Given the description of an element on the screen output the (x, y) to click on. 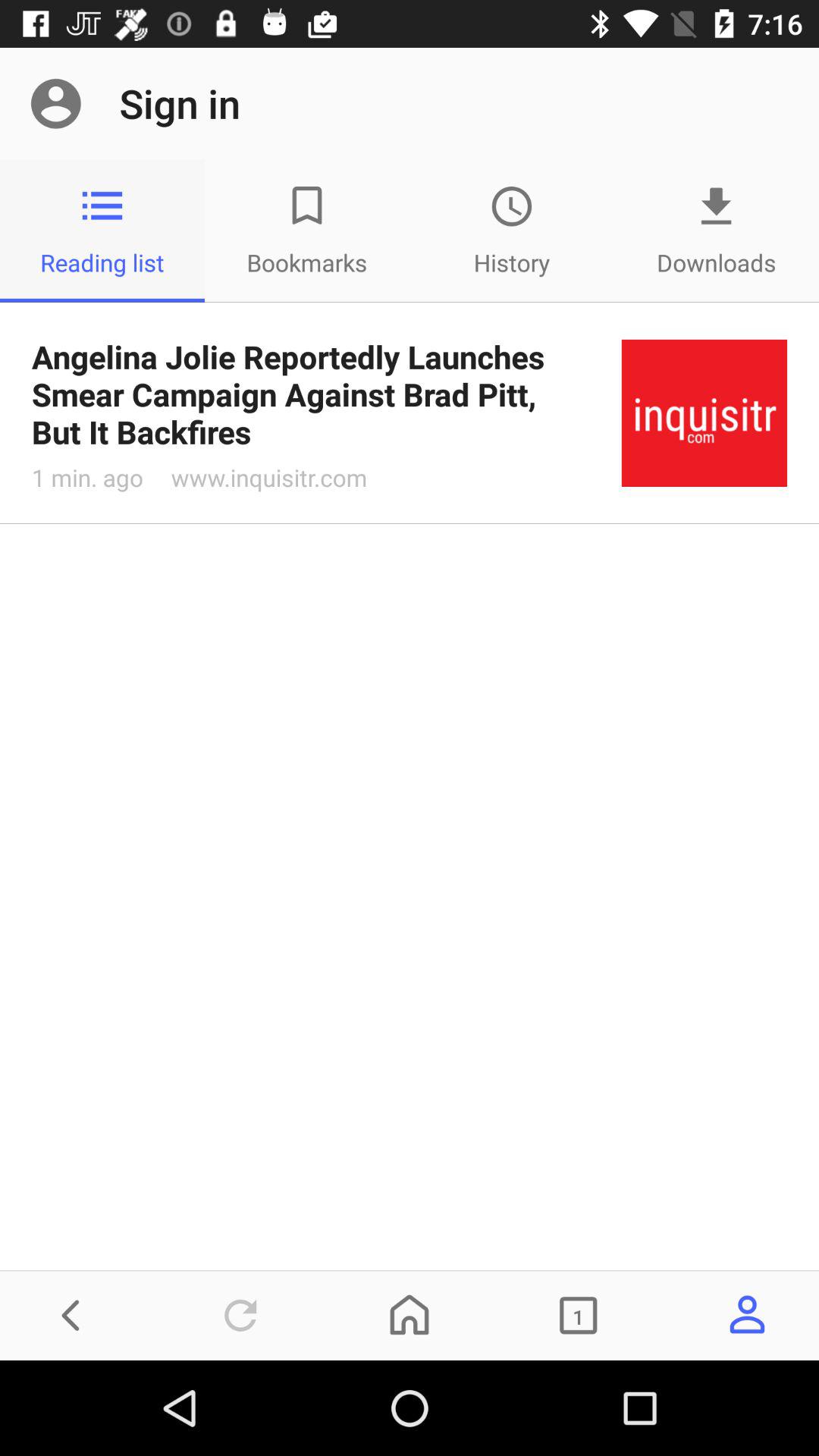
click app to the left of the sign in item (55, 103)
